Given the description of an element on the screen output the (x, y) to click on. 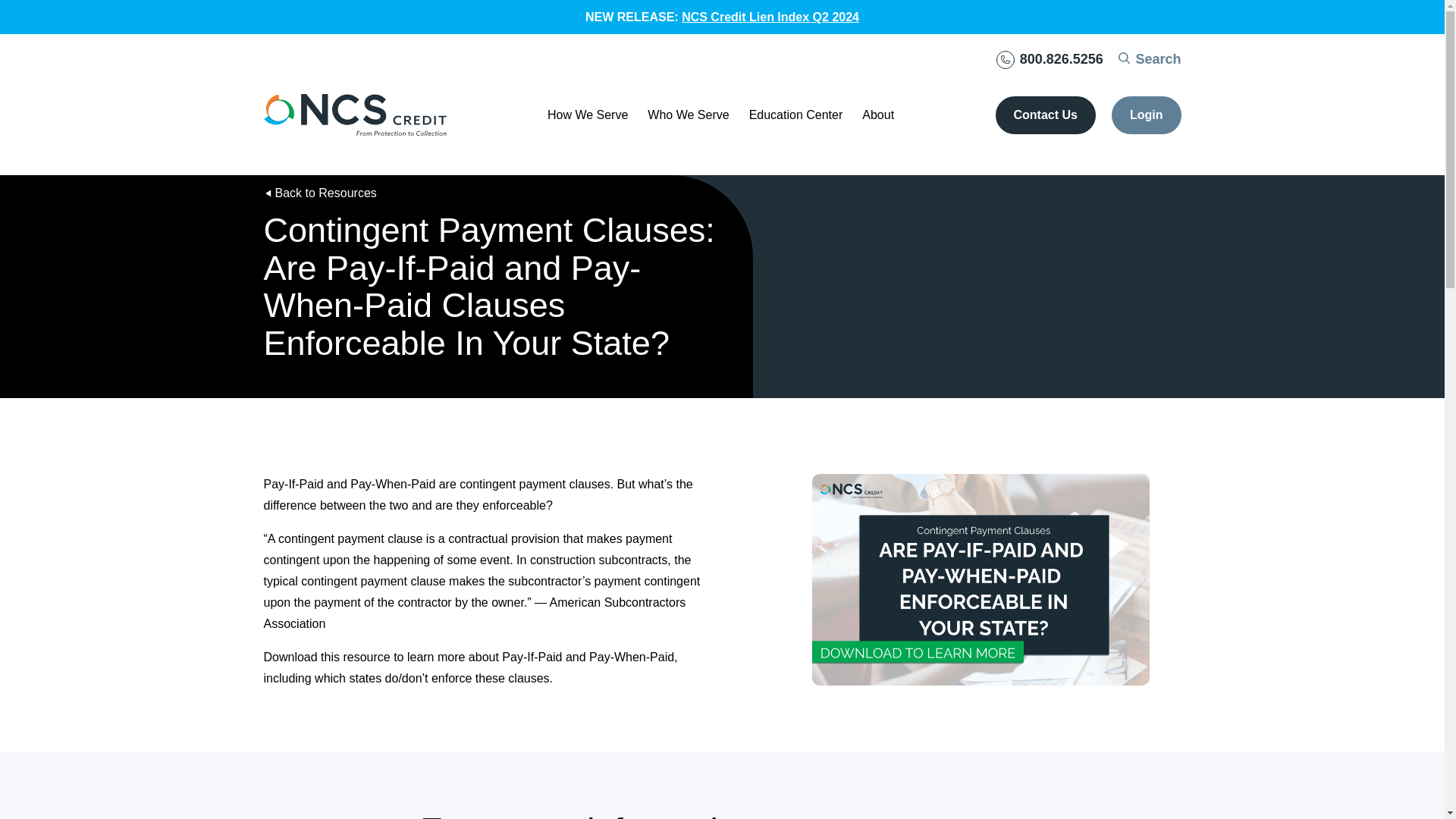
How We Serve (587, 114)
Who We Serve (688, 114)
NCS Credit Lien Index Q2 2024 (770, 16)
